Given the description of an element on the screen output the (x, y) to click on. 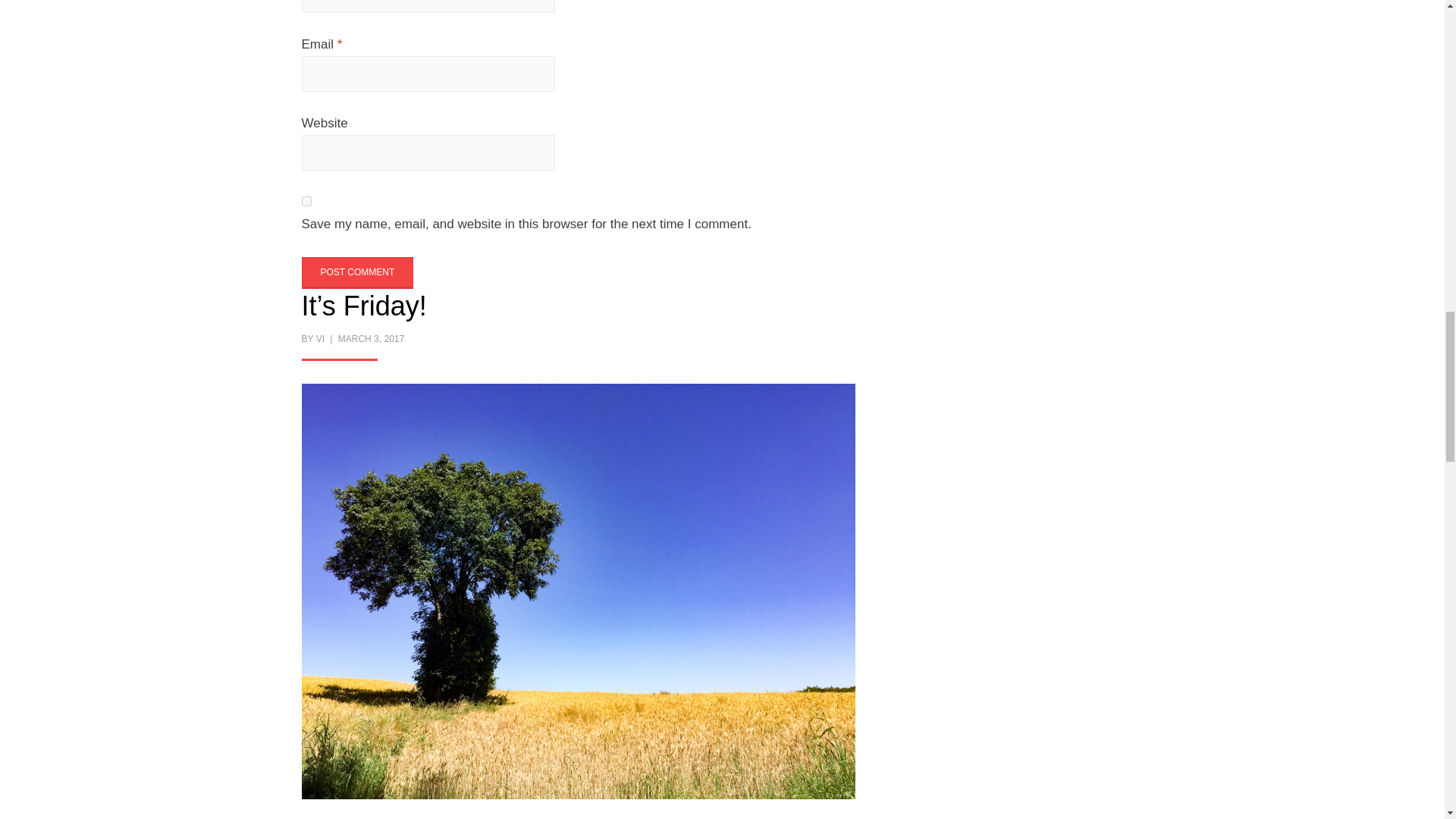
Post Comment (357, 272)
yes (306, 201)
MARCH 3, 2017 (369, 338)
Post Comment (357, 272)
